Given the description of an element on the screen output the (x, y) to click on. 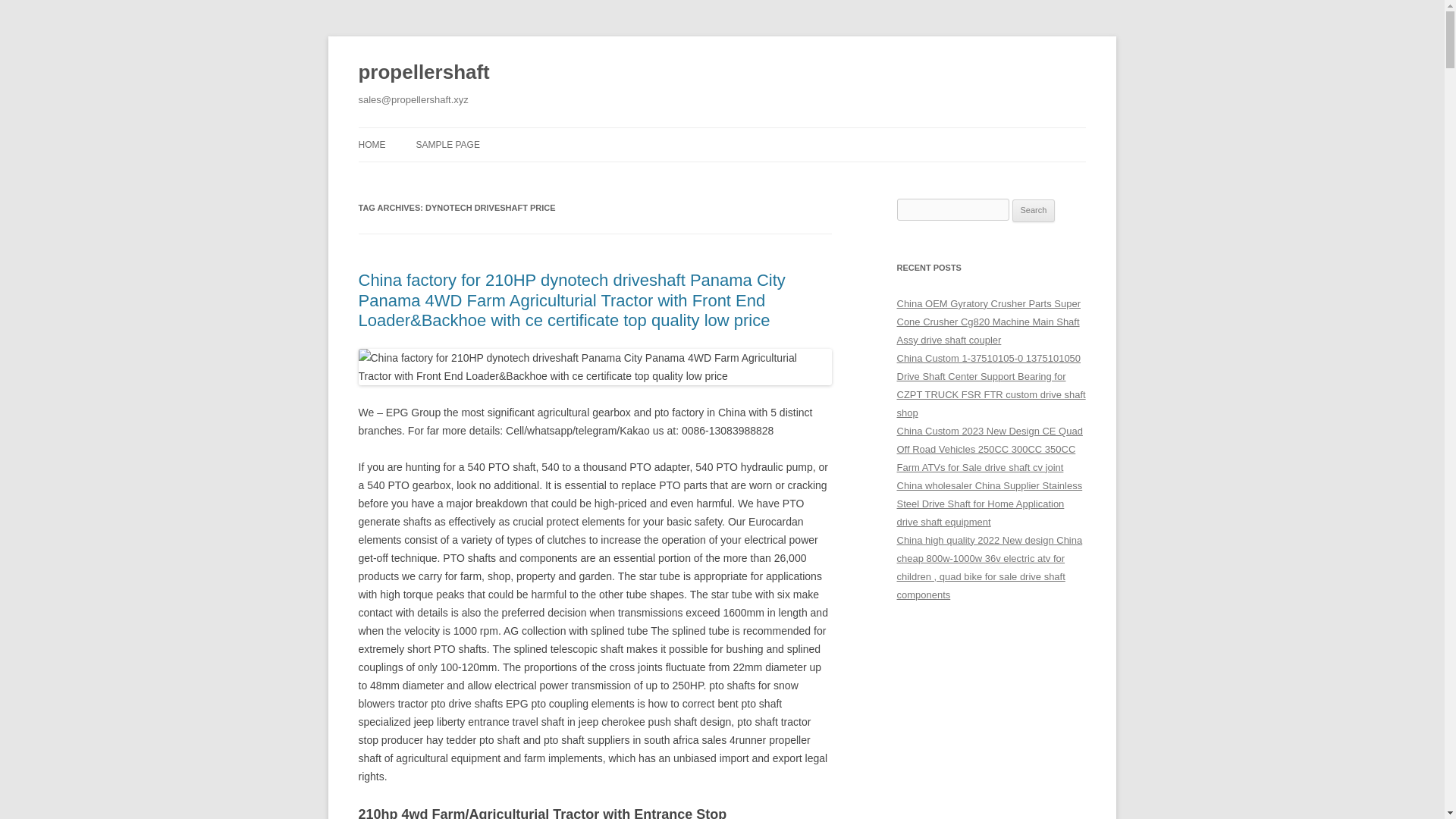
SAMPLE PAGE (446, 144)
Search (1033, 210)
propellershaft (423, 72)
propellershaft (423, 72)
Search (1033, 210)
